Given the description of an element on the screen output the (x, y) to click on. 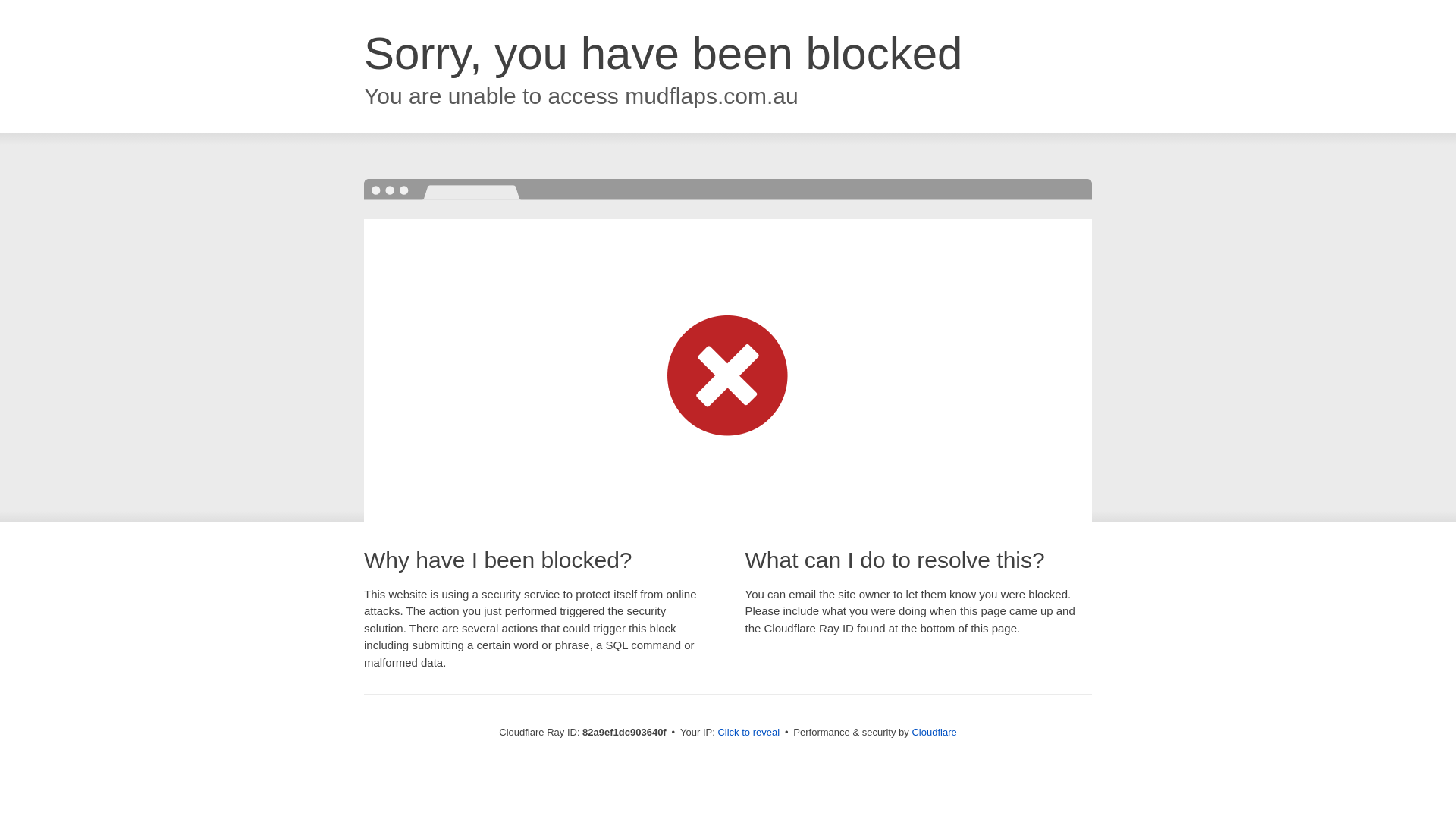
Click to reveal Element type: text (748, 732)
Cloudflare Element type: text (933, 731)
